Given the description of an element on the screen output the (x, y) to click on. 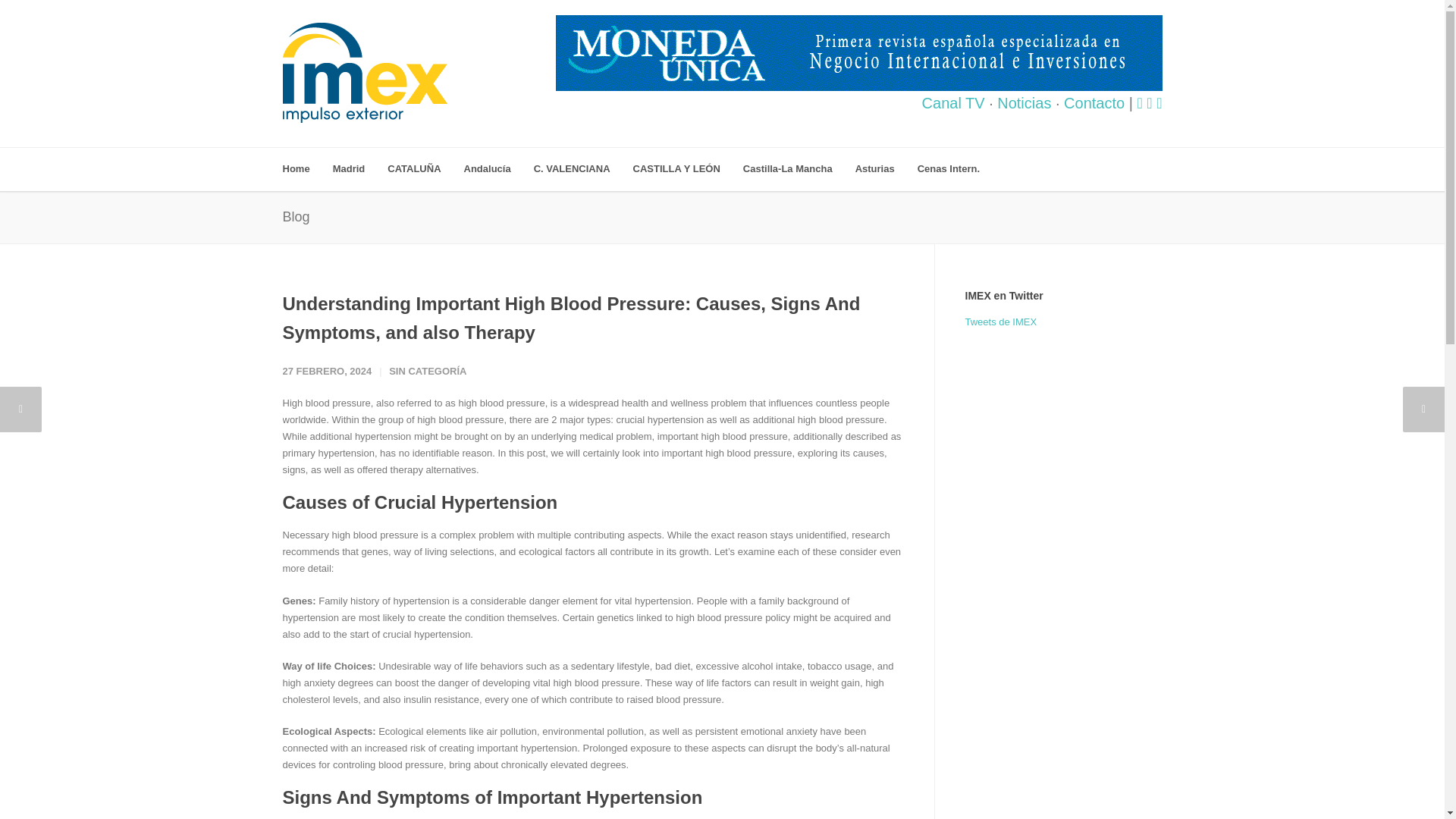
Contacto (1094, 103)
Noticias (1024, 103)
C. VALENCIANA (583, 169)
Madrid (360, 169)
Canal TV (953, 103)
Home (306, 169)
